Given the description of an element on the screen output the (x, y) to click on. 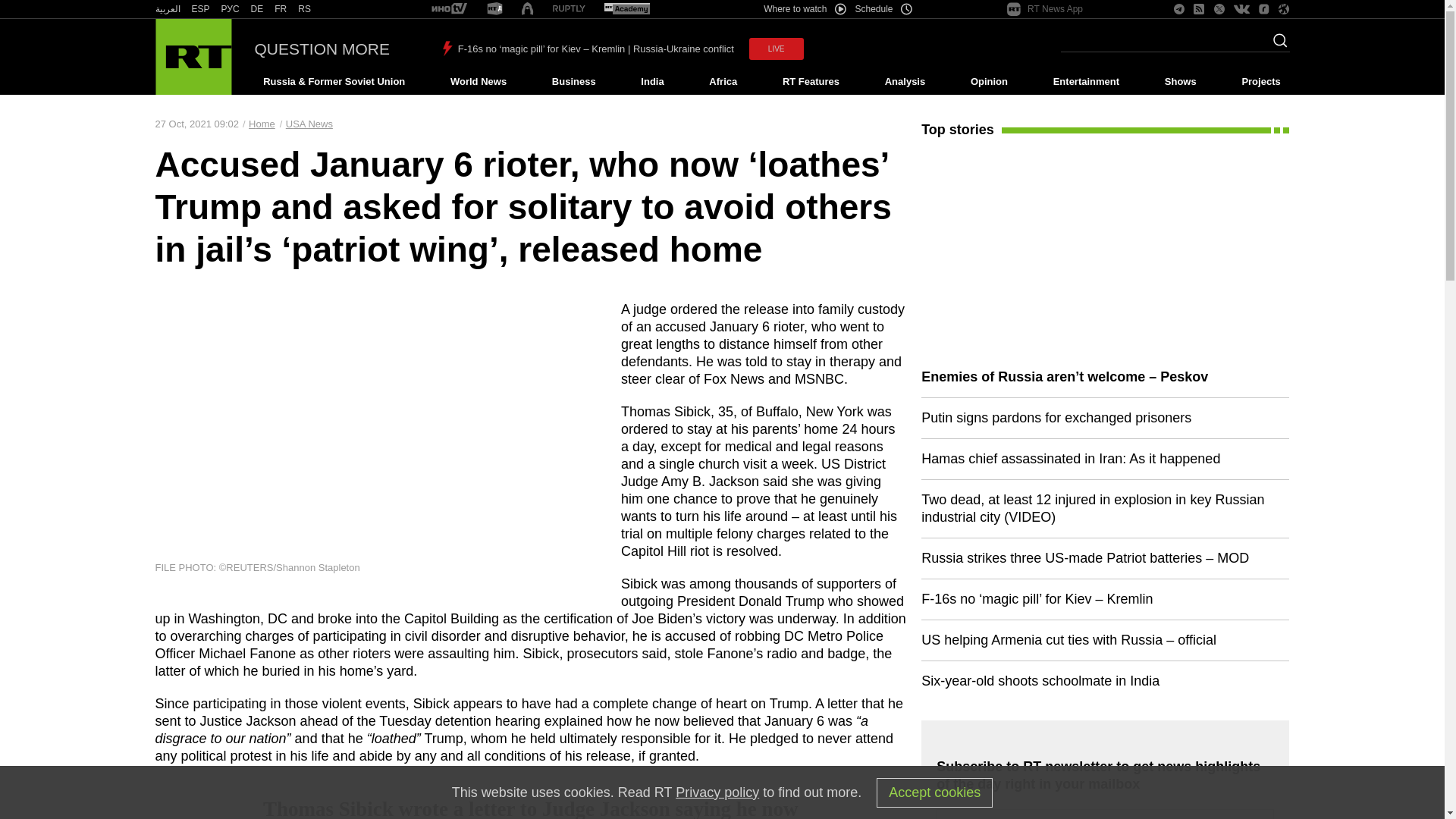
RT  (304, 9)
RT  (280, 9)
RT  (626, 9)
RT  (448, 9)
QUESTION MORE (322, 48)
RT  (199, 9)
RT News App (1045, 9)
ESP (199, 9)
Opinion (988, 81)
Where to watch (803, 9)
